Given the description of an element on the screen output the (x, y) to click on. 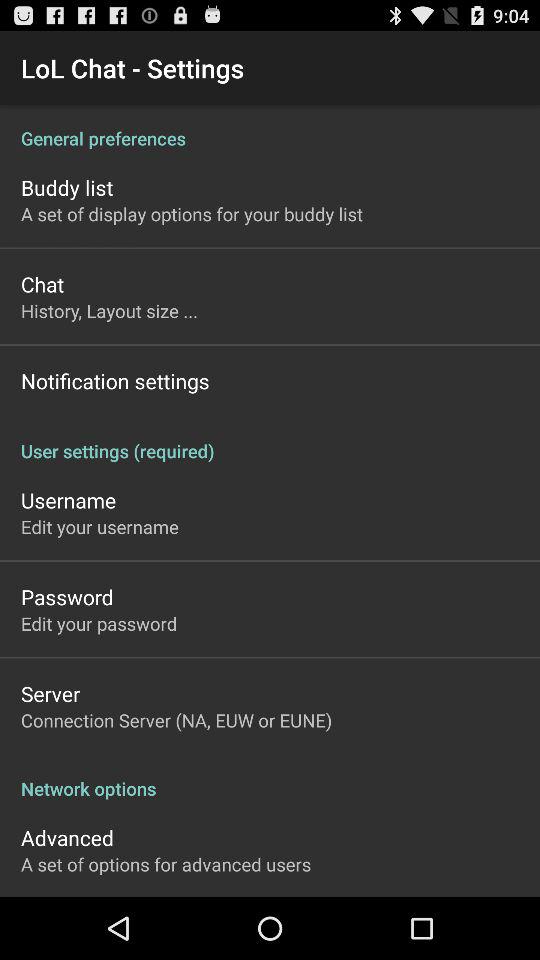
jump to user settings (required) (270, 440)
